Given the description of an element on the screen output the (x, y) to click on. 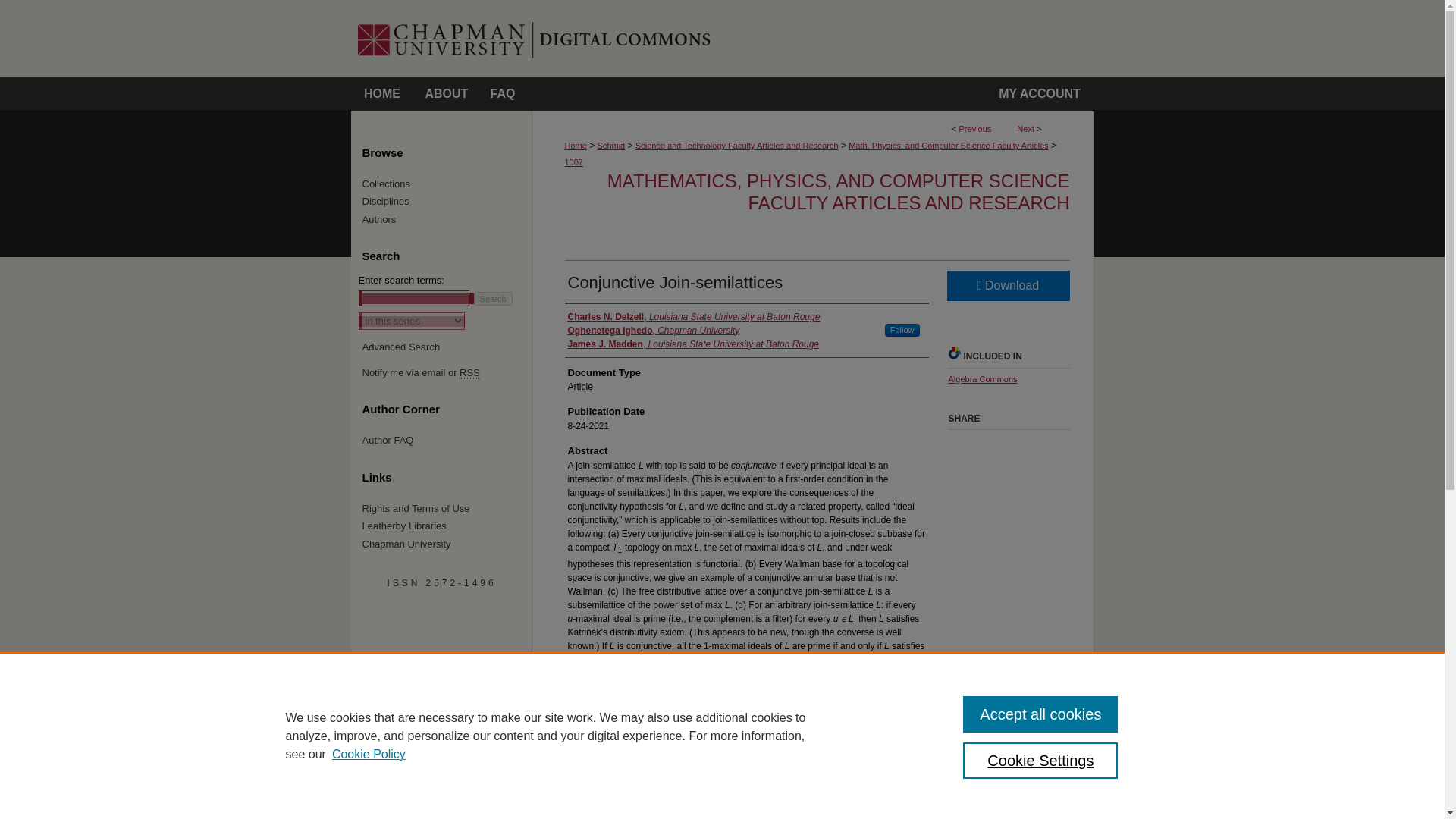
FAQ (503, 93)
Follow (902, 329)
James J. Madden, Louisiana State University at Baton Rouge (692, 344)
Home (575, 144)
Oghenetega Ighedo, Chapman University (653, 330)
About (446, 93)
MY ACCOUNT (1039, 93)
HOME (381, 93)
Chapman University (439, 6)
Home (381, 93)
Next (1024, 128)
1007 (573, 162)
Algebra Commons (981, 379)
